Given the description of an element on the screen output the (x, y) to click on. 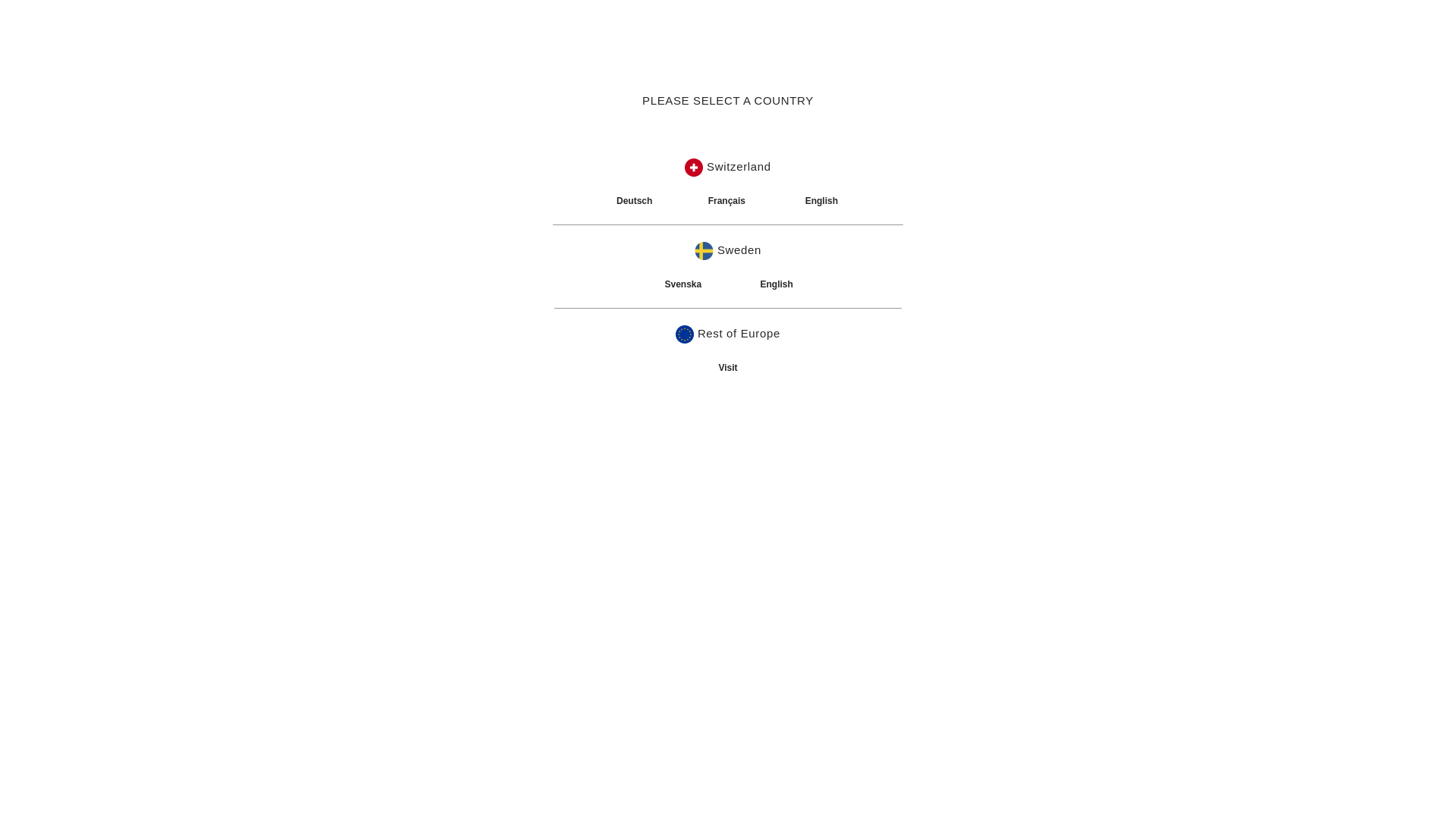
Deutsch Element type: text (634, 200)
English Element type: text (775, 284)
Visit Element type: text (727, 367)
Svenska Element type: text (682, 284)
English Element type: text (821, 200)
